Given the description of an element on the screen output the (x, y) to click on. 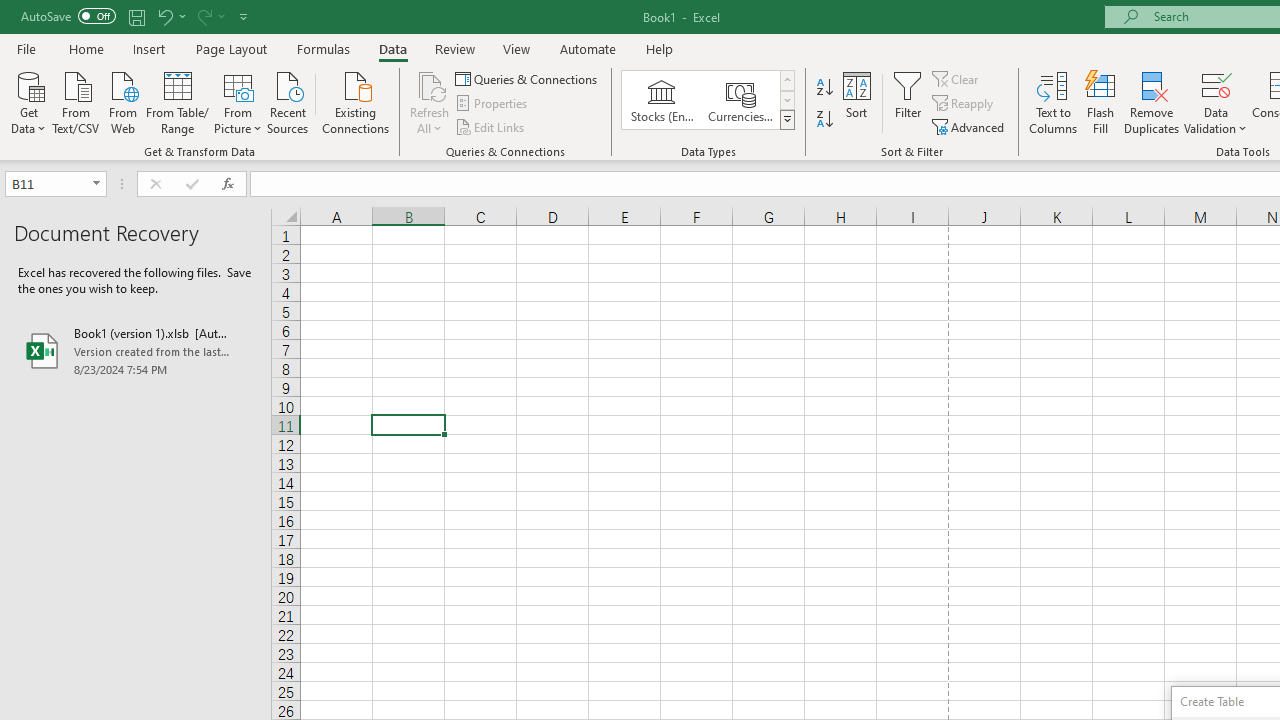
Existing Connections (355, 101)
Sort Z to A (824, 119)
Stocks (English) (662, 100)
